Given the description of an element on the screen output the (x, y) to click on. 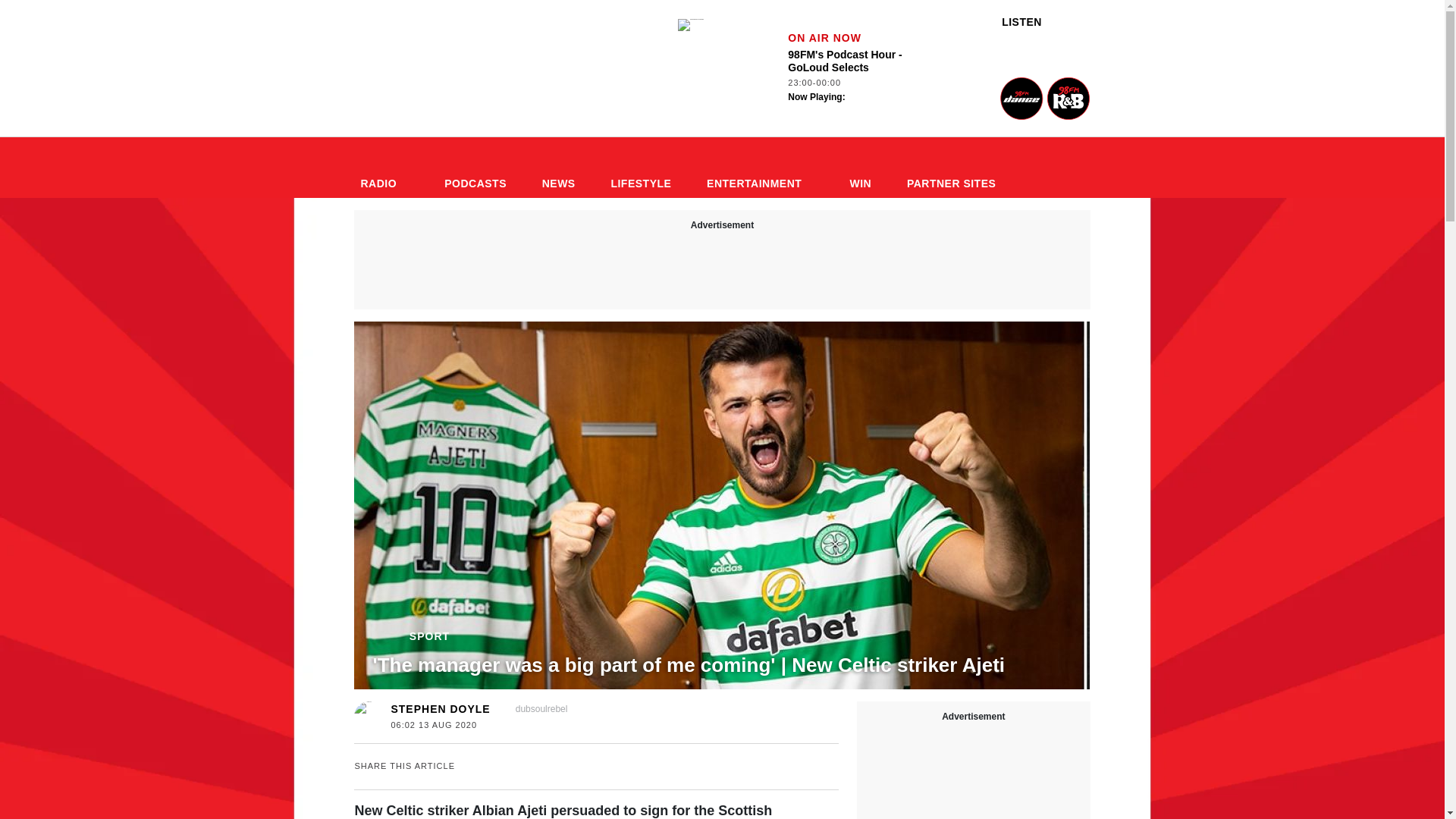
RADIO (383, 167)
98FM's Podcast Hour - GoLoud Selects (690, 68)
PARTNER SITES (957, 167)
PODCASTS (475, 167)
Win (860, 167)
NEWS (557, 167)
Podcasts (475, 167)
News (557, 167)
STEPHEN DOYLE (439, 708)
ENTERTAINMENT (760, 167)
WIN (860, 167)
Lifestyle (640, 167)
dubsoulrebel (533, 708)
98FM's Podcast Hour - GoLoud Selects (690, 24)
